Given the description of an element on the screen output the (x, y) to click on. 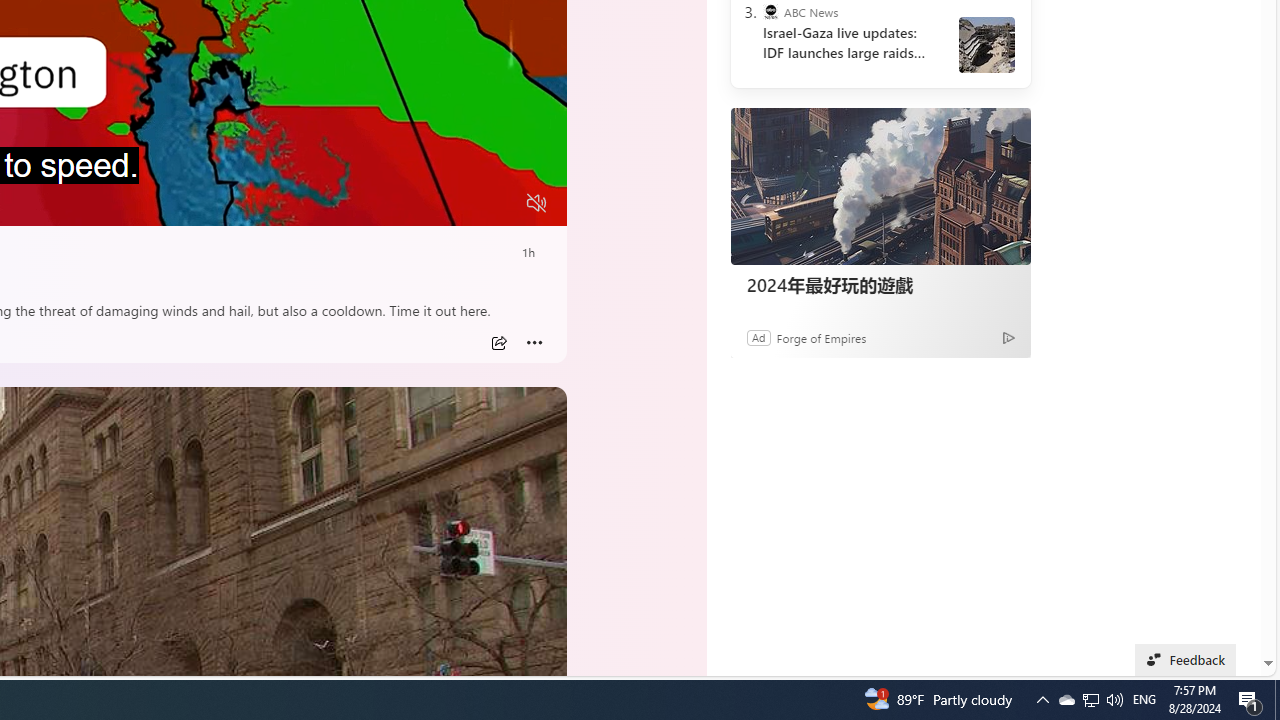
More (534, 343)
ABC News (770, 12)
Unmute (535, 203)
Share (498, 343)
Forge of Empires (820, 337)
More (534, 343)
Fullscreen (497, 203)
Captions (457, 203)
Share (498, 343)
